Given the description of an element on the screen output the (x, y) to click on. 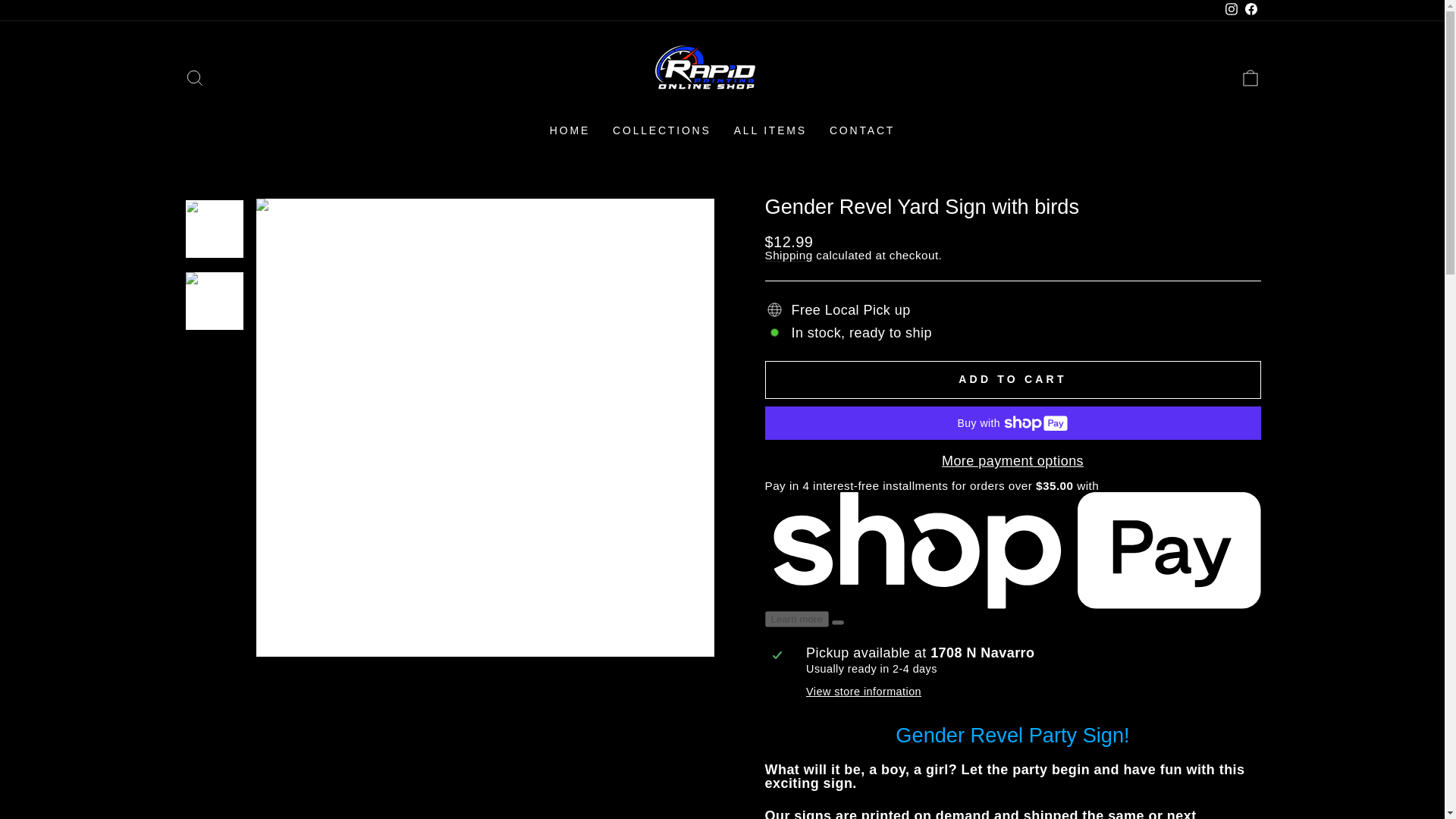
HOME (569, 130)
More payment options (1012, 460)
ADD TO CART (1012, 379)
Facebook (1250, 10)
Rapid Printing Online Shop on Instagram (1230, 10)
Instagram (1230, 10)
Rapid Printing Online Shop on Facebook (1250, 10)
ALL ITEMS (770, 130)
SEARCH (194, 77)
CART (1249, 77)
